Given the description of an element on the screen output the (x, y) to click on. 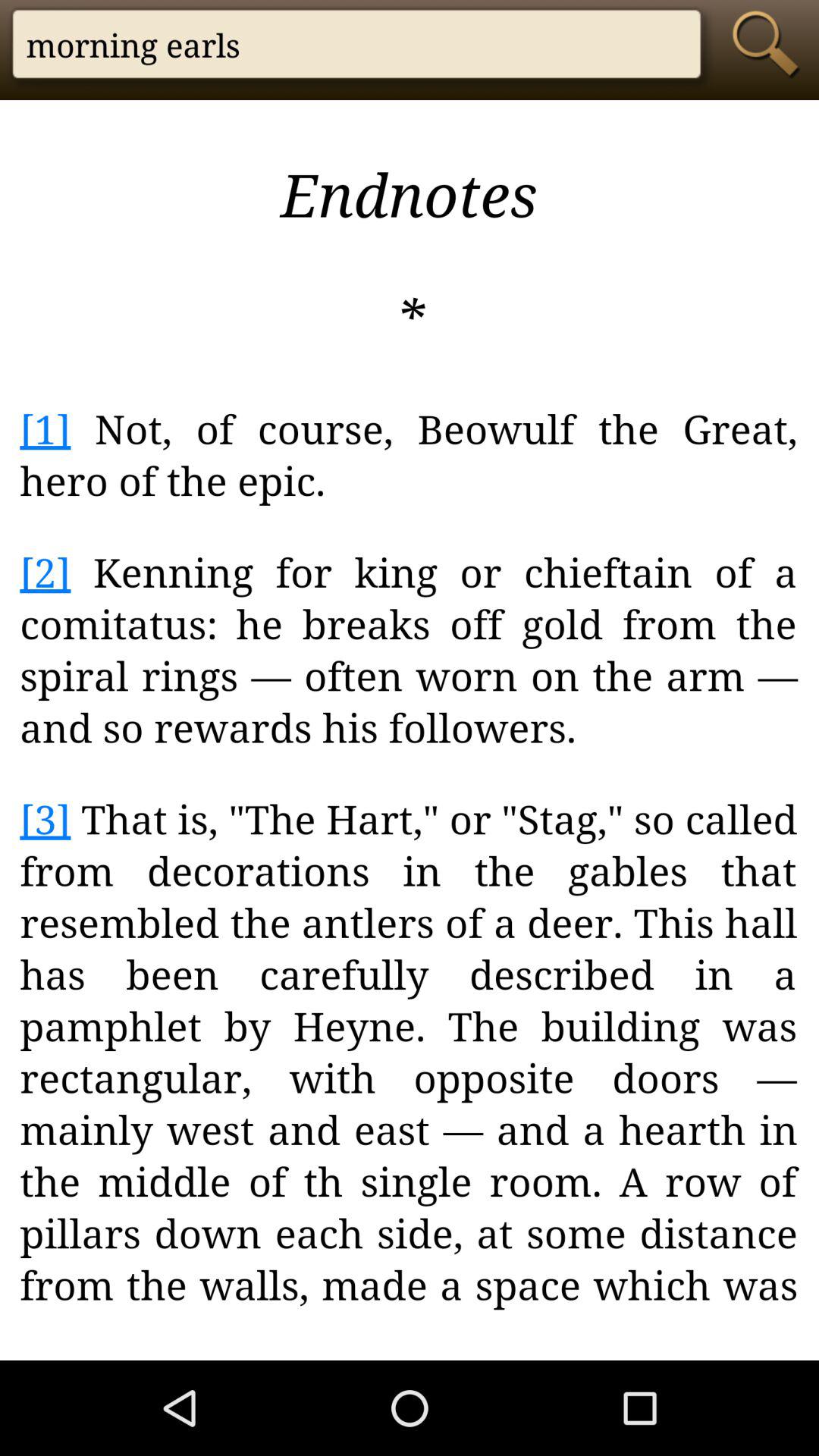
search for text (770, 43)
